Given the description of an element on the screen output the (x, y) to click on. 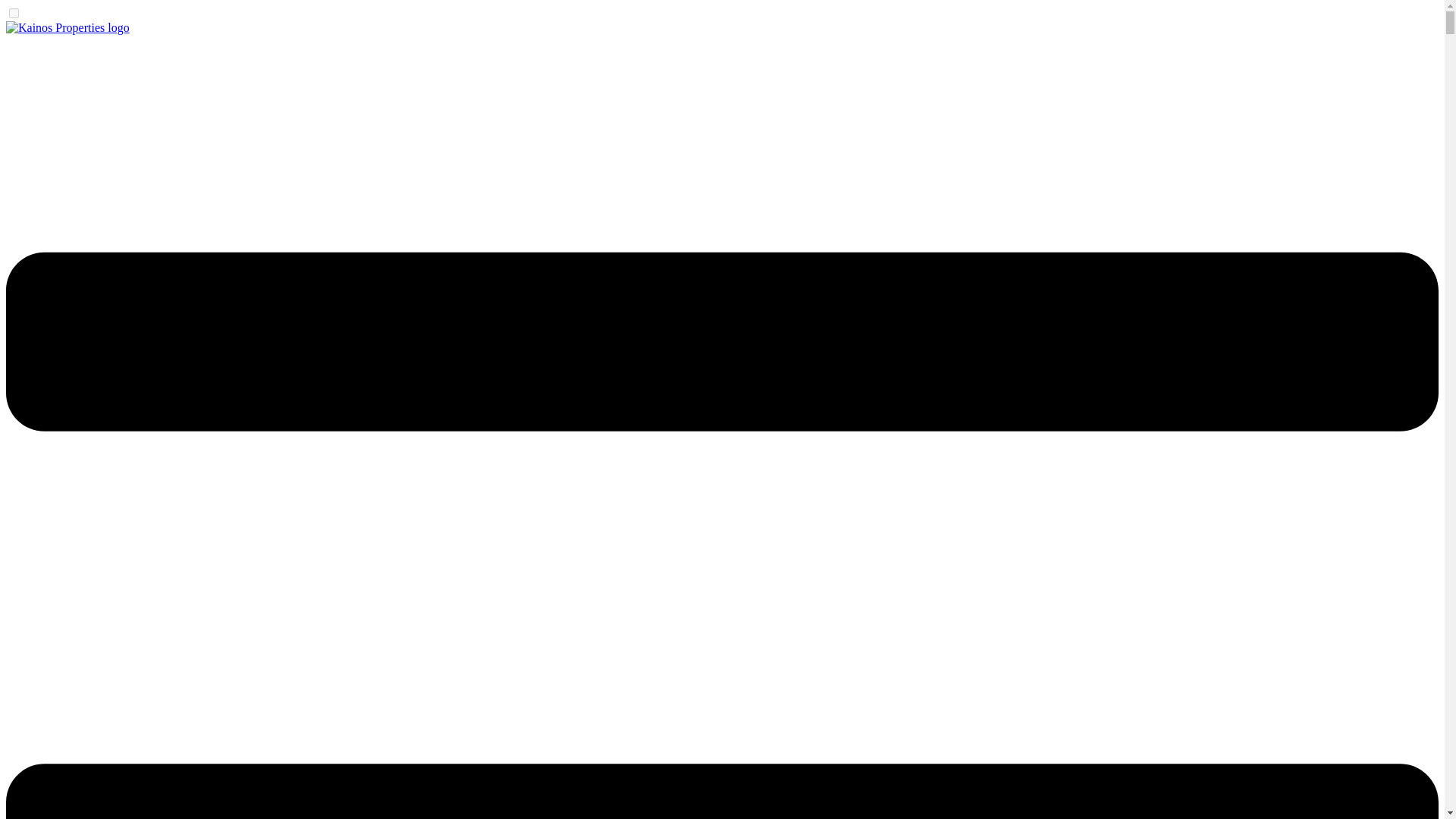
on (13, 13)
